Given the description of an element on the screen output the (x, y) to click on. 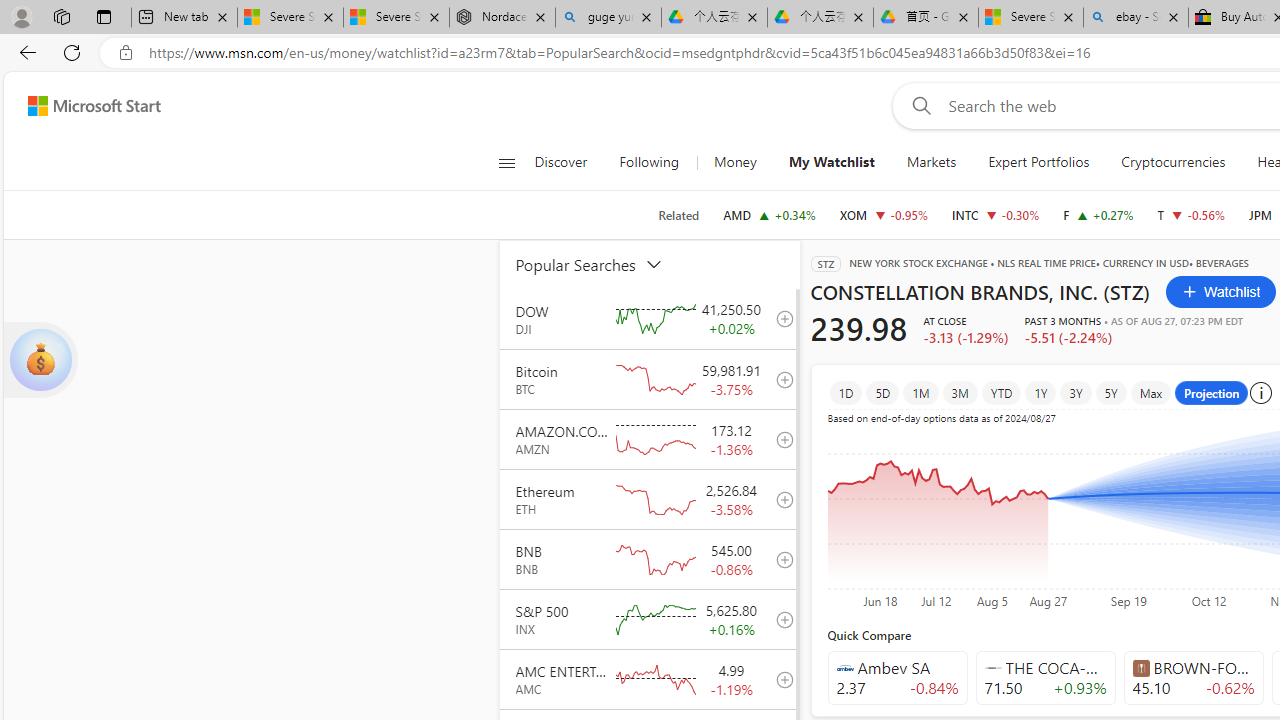
Watchlist (1221, 291)
Expert Portfolios (1038, 162)
Projection (1212, 392)
add to your watchlist (779, 678)
My Watchlist (831, 162)
